Given the description of an element on the screen output the (x, y) to click on. 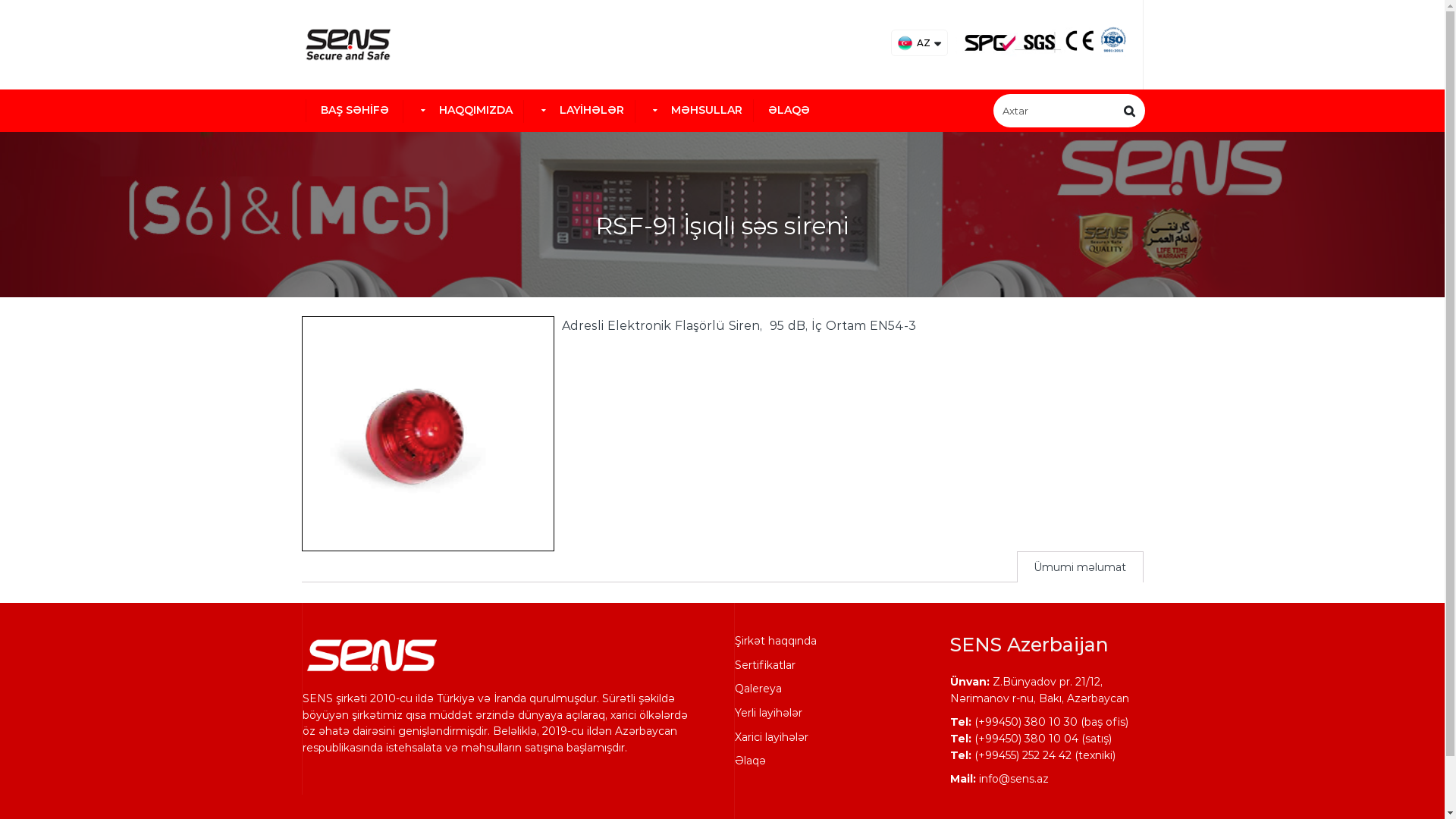
Sertifikatlar Element type: text (764, 664)
Tel: (+99455) 252 24 42 (texniki) Element type: text (1031, 755)
Qalereya Element type: text (757, 688)
info@sens.az Element type: text (1013, 778)
HAQQIMIZDA Element type: text (462, 109)
